Given the description of an element on the screen output the (x, y) to click on. 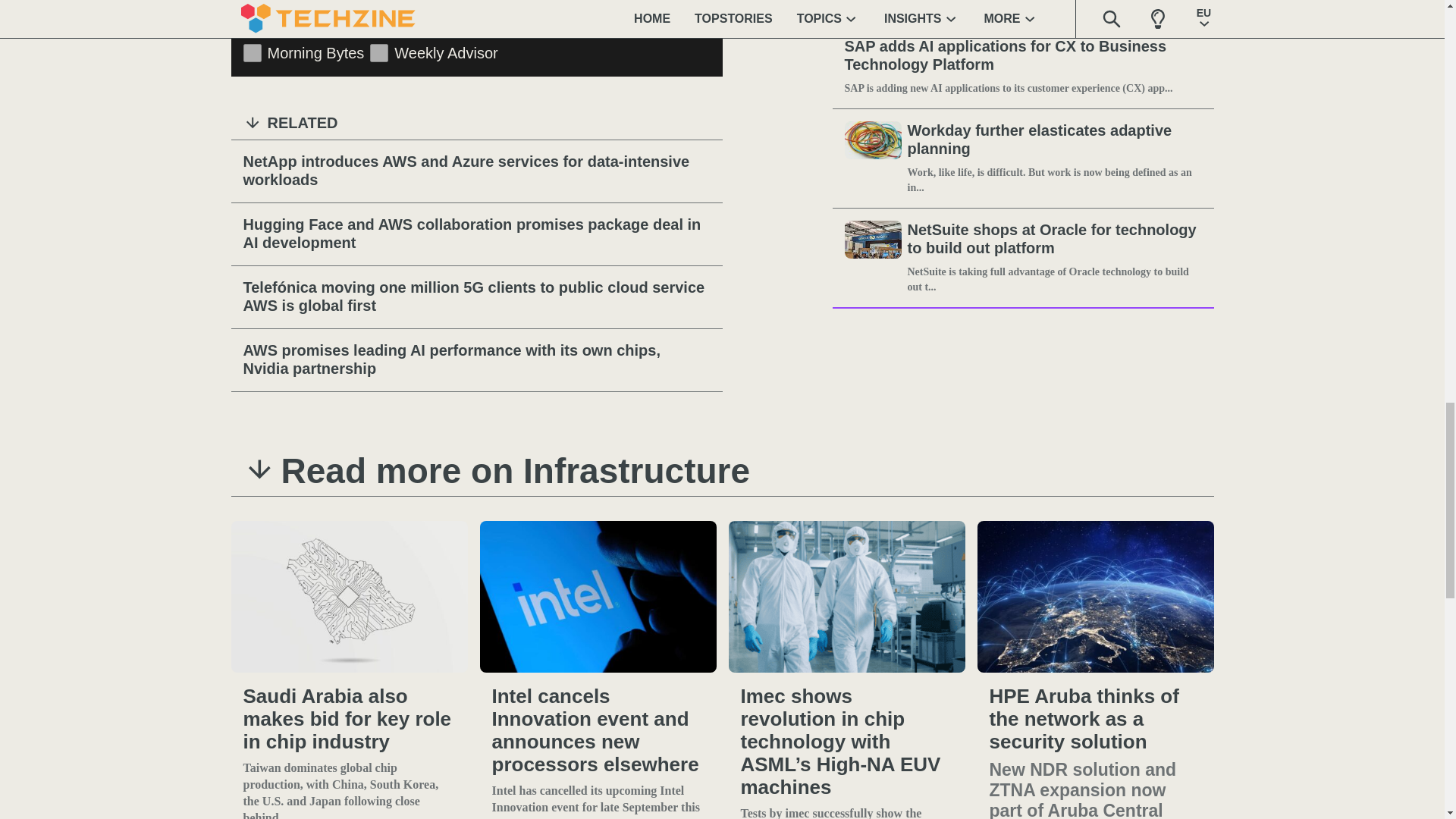
Saudi Arabia also makes bid for key role in chip industry (348, 718)
84623981521405447 (378, 53)
Saudi Arabia also makes bid for key role in chip industry (348, 596)
